Given the description of an element on the screen output the (x, y) to click on. 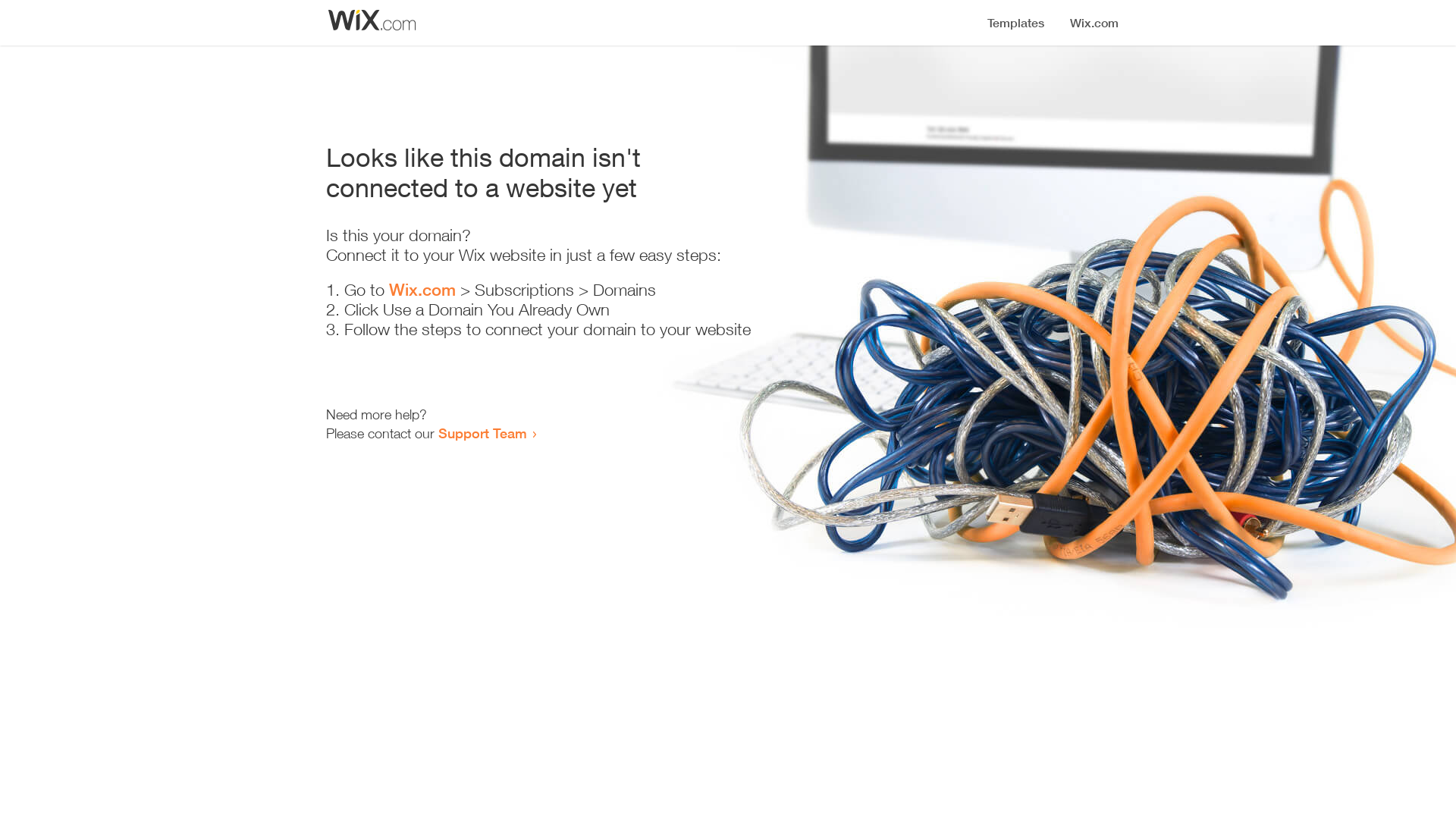
Support Team Element type: text (482, 432)
Wix.com Element type: text (422, 289)
